Given the description of an element on the screen output the (x, y) to click on. 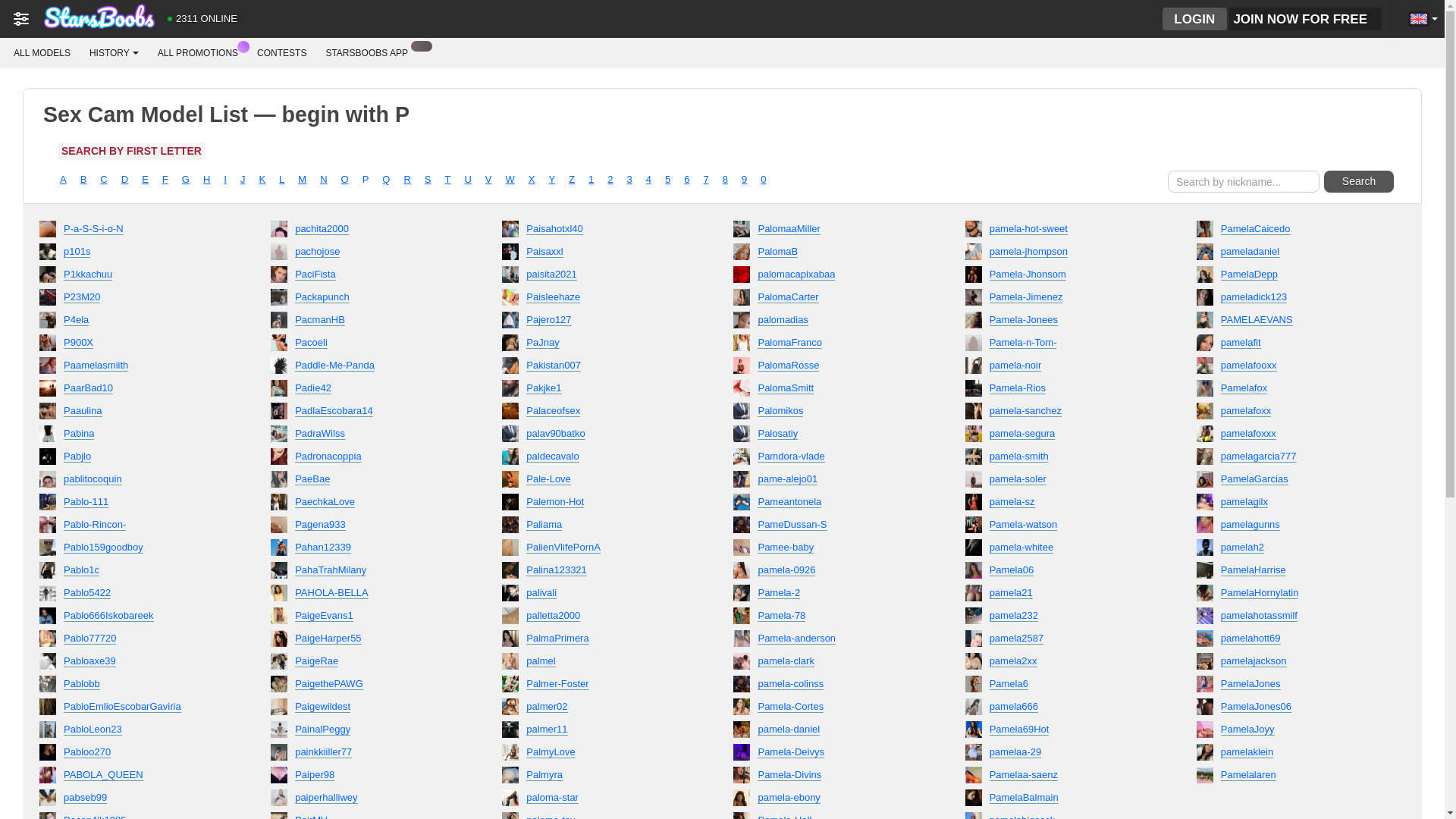
JOIN NOW FOR FREE (1304, 18)
LOGIN (1194, 18)
